Given the description of an element on the screen output the (x, y) to click on. 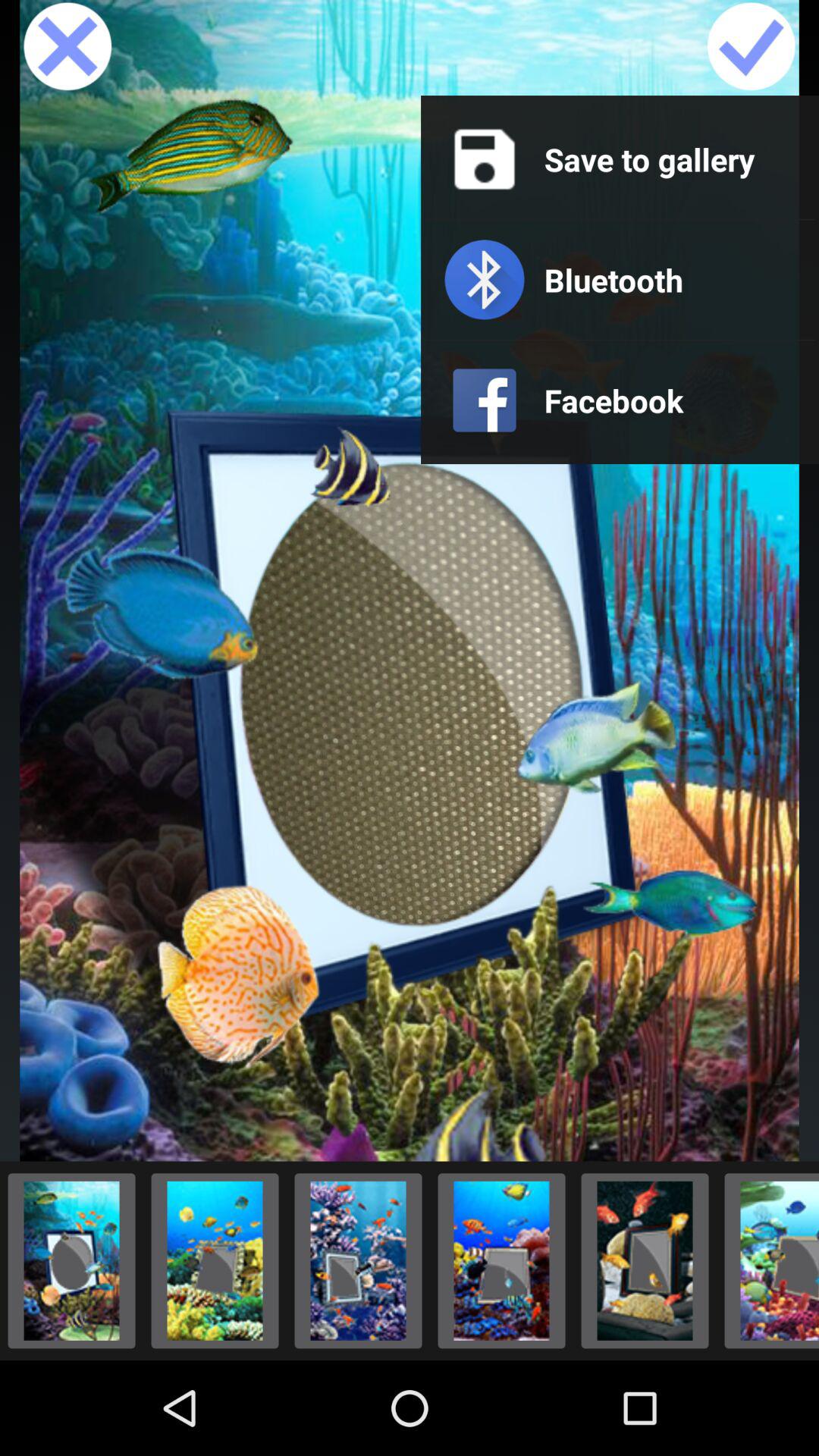
select theme (214, 1260)
